Given the description of an element on the screen output the (x, y) to click on. 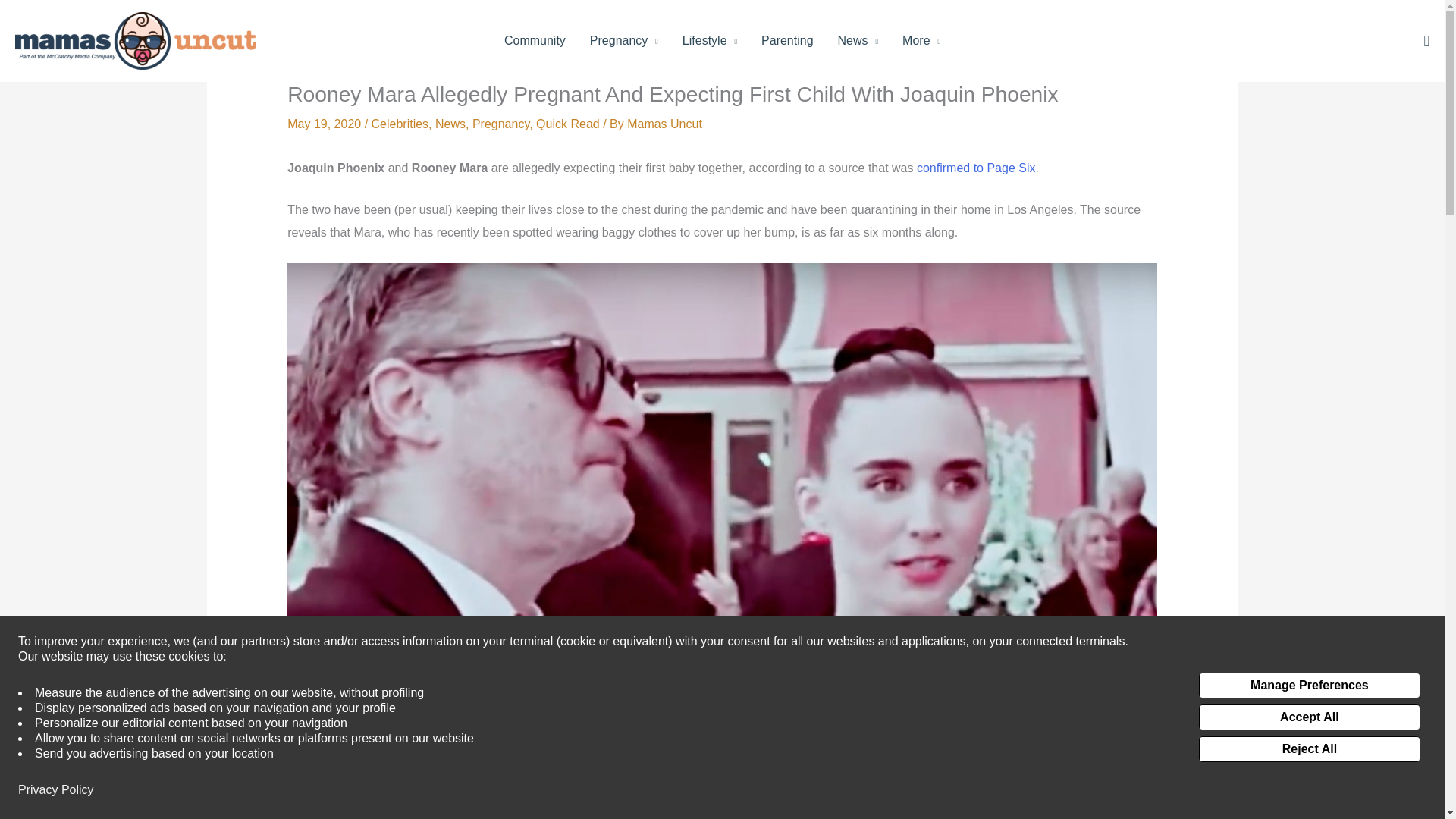
Pregnancy (623, 40)
Accept All (1309, 717)
Manage Preferences (1309, 685)
News (858, 40)
Parenting (787, 40)
Lifestyle (709, 40)
More (920, 40)
View all posts by Mamas Uncut (664, 123)
Community (535, 40)
Reject All (1309, 749)
